Given the description of an element on the screen output the (x, y) to click on. 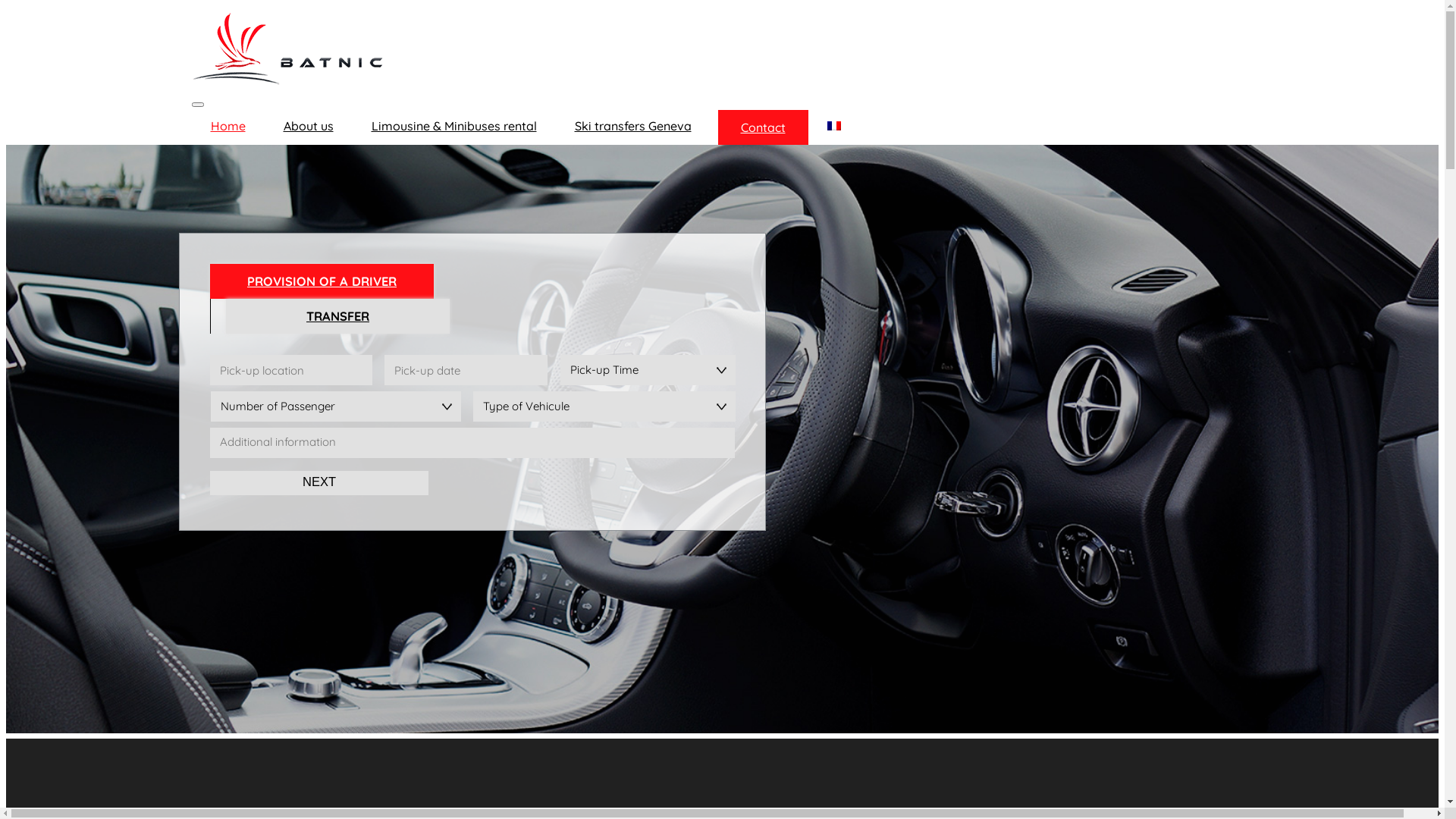
About us Element type: text (307, 125)
TRANSFER Element type: text (337, 315)
Home Element type: text (227, 125)
Next Element type: text (319, 482)
PROVISION OF A DRIVER Element type: text (321, 280)
Contact Element type: text (762, 126)
Ski transfers Geneva Element type: text (632, 125)
Limousine & Minibuses rental Element type: text (453, 125)
